Given the description of an element on the screen output the (x, y) to click on. 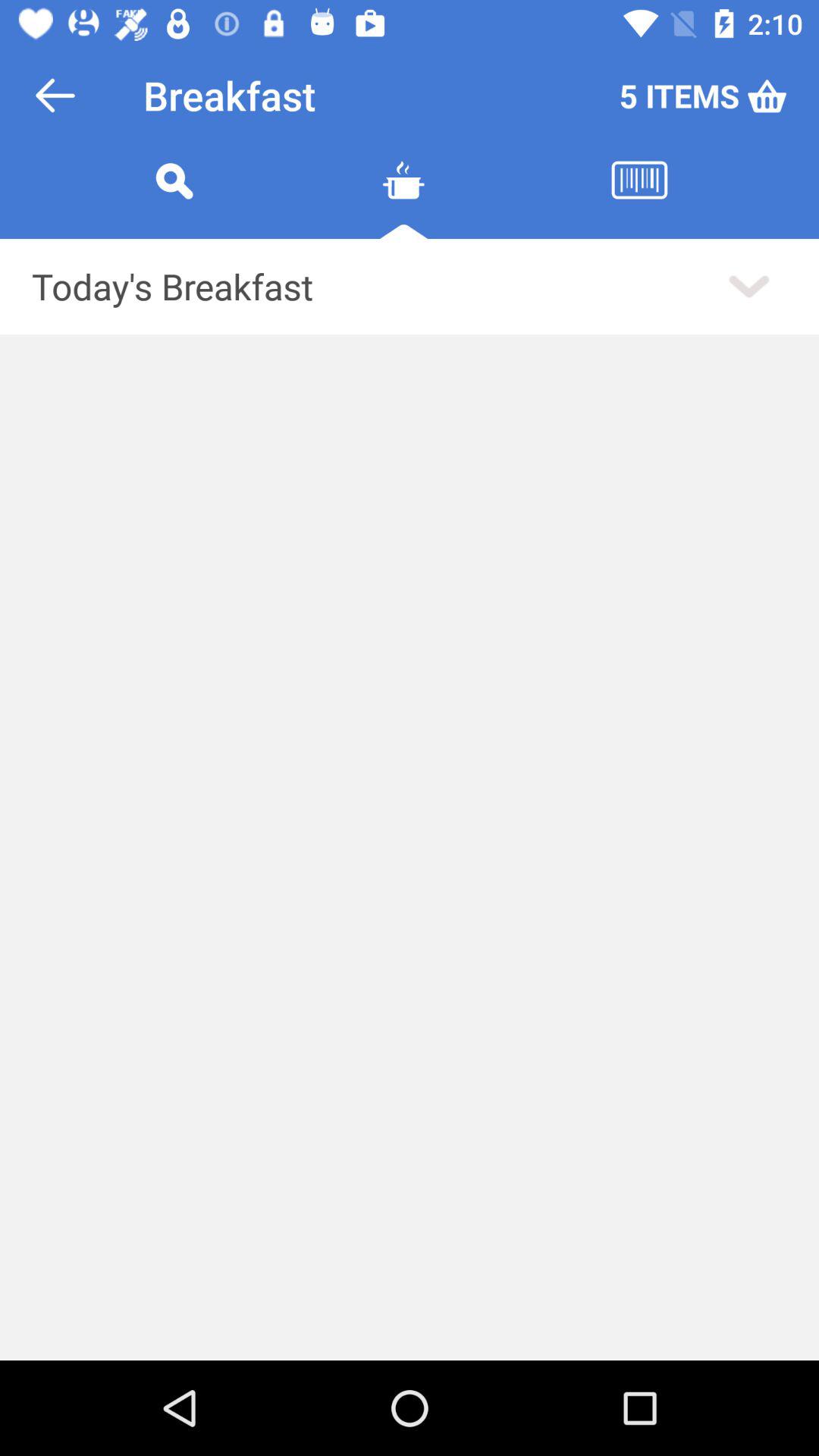
scan barcode (639, 198)
